Given the description of an element on the screen output the (x, y) to click on. 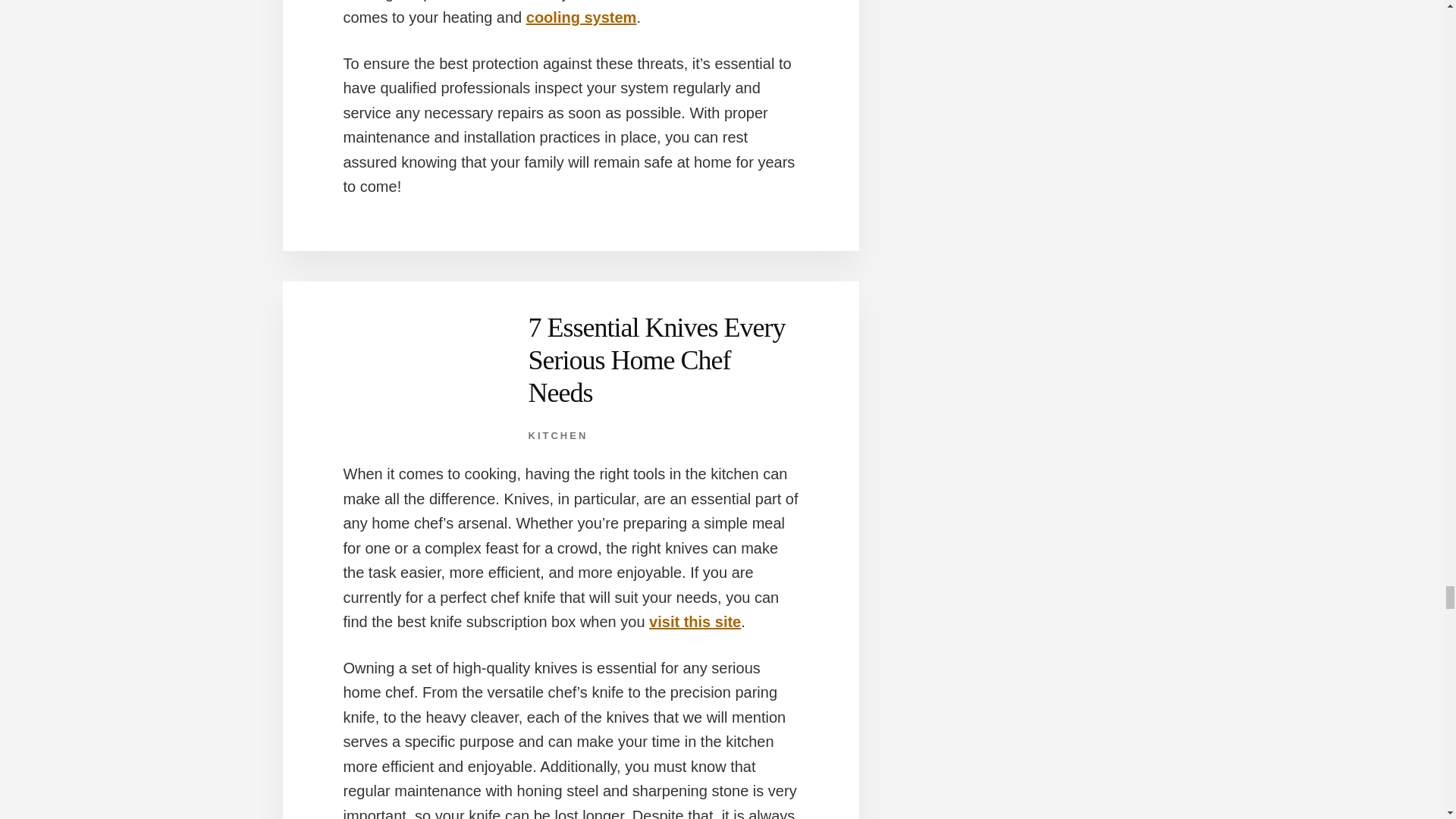
KITCHEN (557, 435)
7 Essential Knives Every Serious Home Chef Needs (655, 359)
cooling system (581, 17)
